Given the description of an element on the screen output the (x, y) to click on. 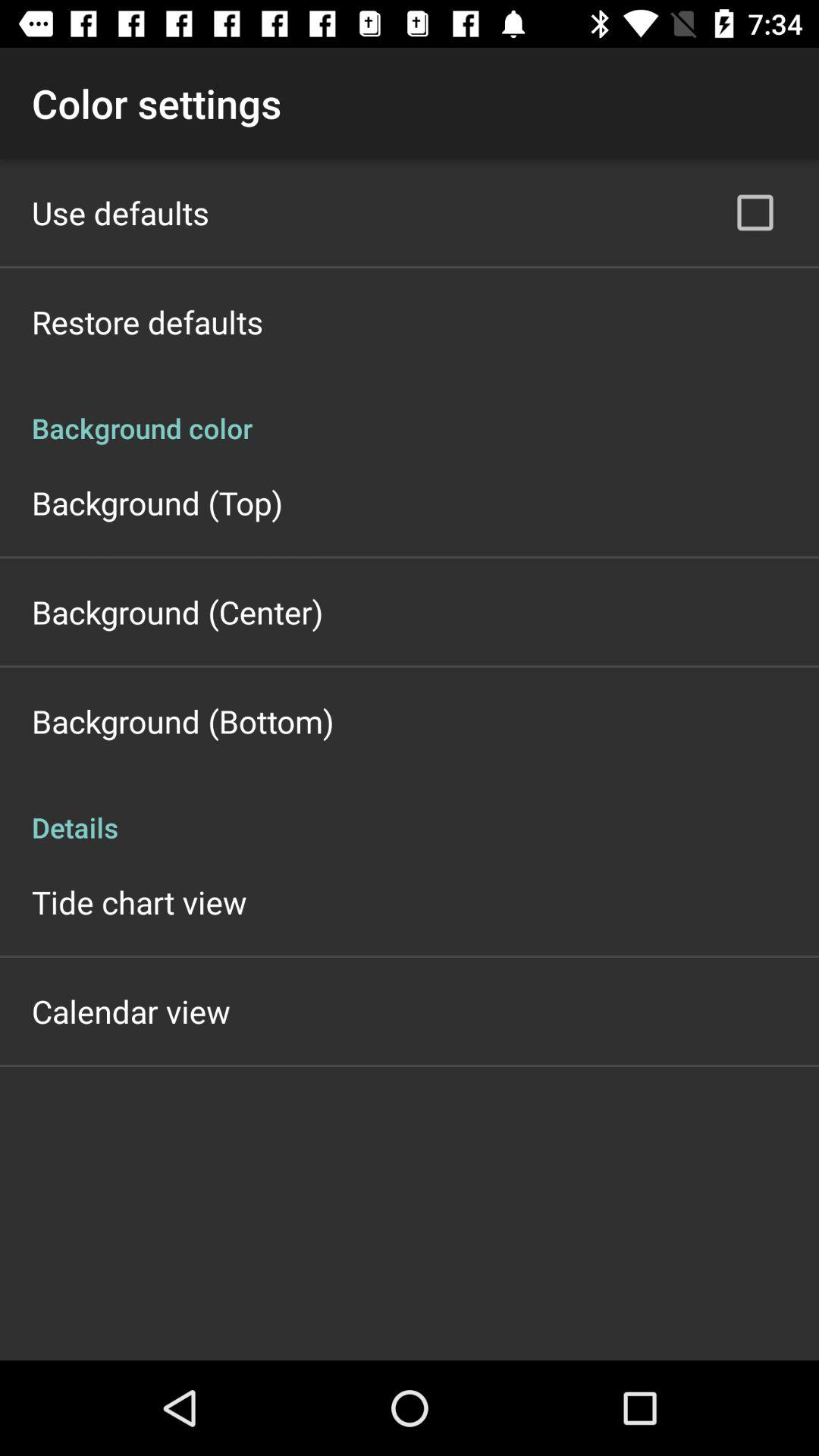
launch the app below restore defaults app (409, 412)
